Given the description of an element on the screen output the (x, y) to click on. 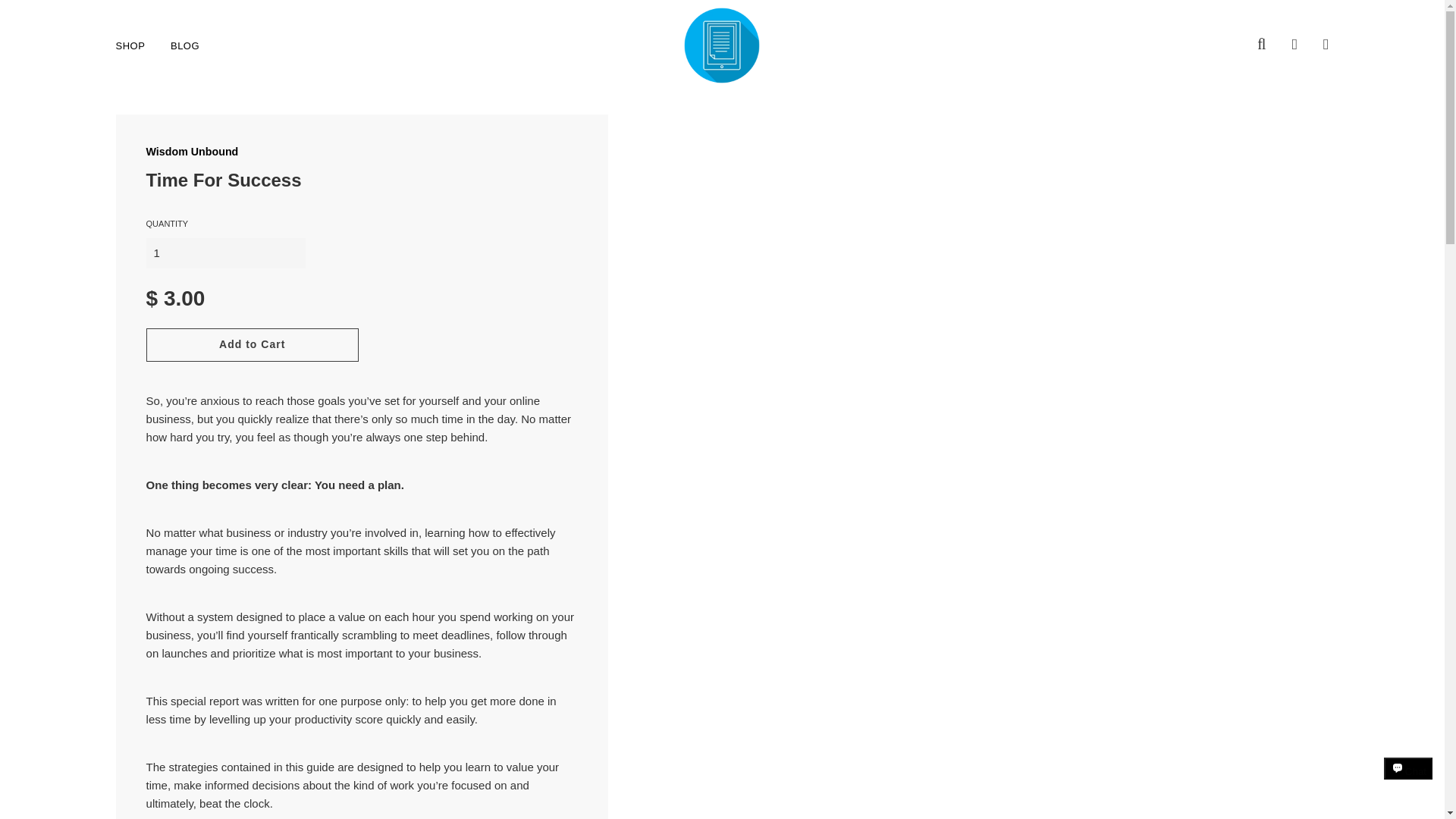
Add to Cart (252, 344)
1 (226, 253)
Wisdom Unbound (192, 151)
BLOG (178, 44)
SHOP (130, 44)
Wisdom Unbound (192, 151)
Shopify online store chat (1408, 781)
